Given the description of an element on the screen output the (x, y) to click on. 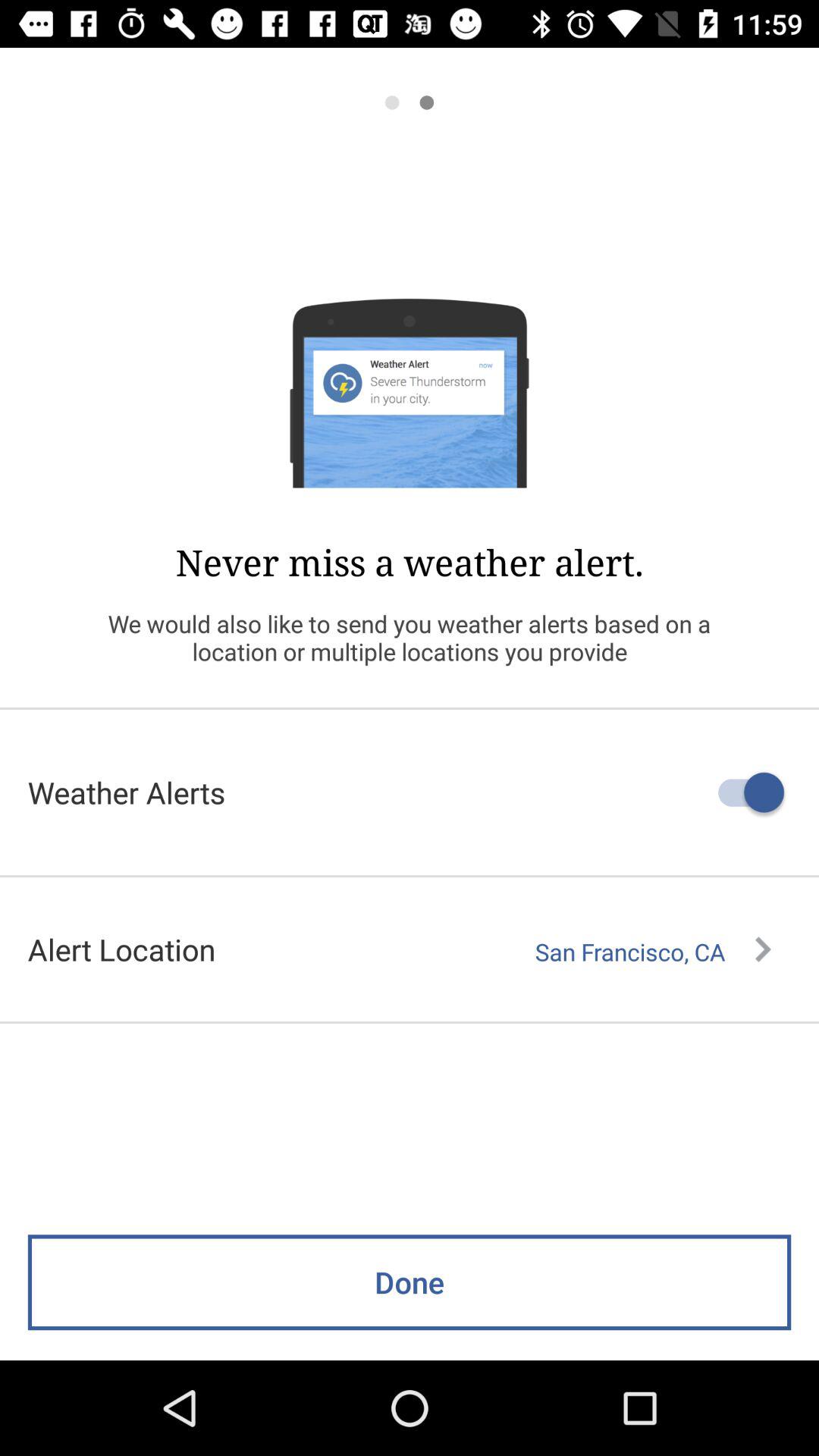
open done (409, 1282)
